Given the description of an element on the screen output the (x, y) to click on. 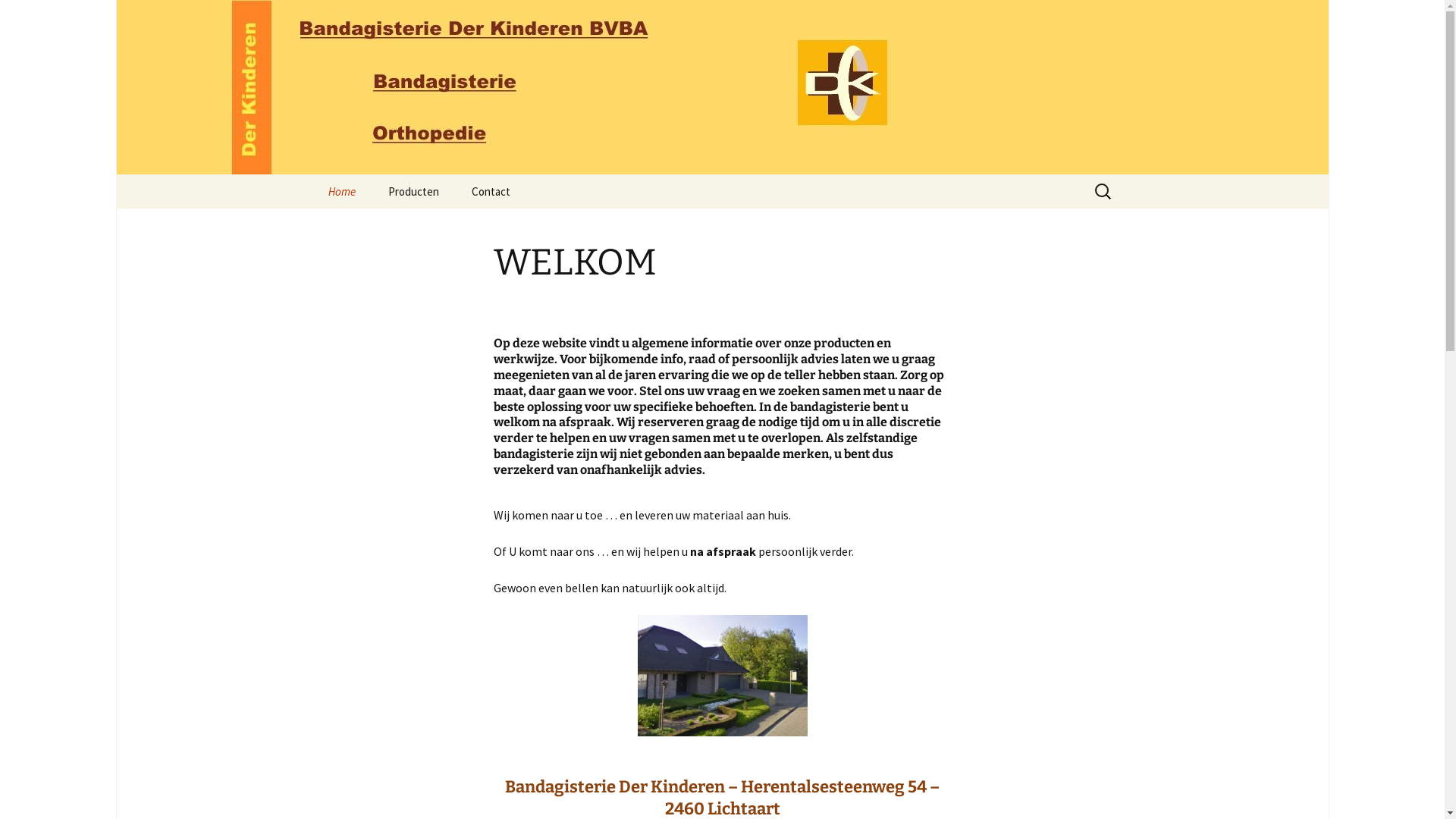
Contact Element type: text (490, 191)
Borstprothesen en lingerie Element type: text (448, 231)
Bandagisterie Der Kinderen Element type: text (721, 87)
Home Element type: text (341, 191)
Zoeken Element type: text (18, 16)
Producten Element type: text (413, 191)
Spring naar inhoud Element type: text (312, 173)
